Given the description of an element on the screen output the (x, y) to click on. 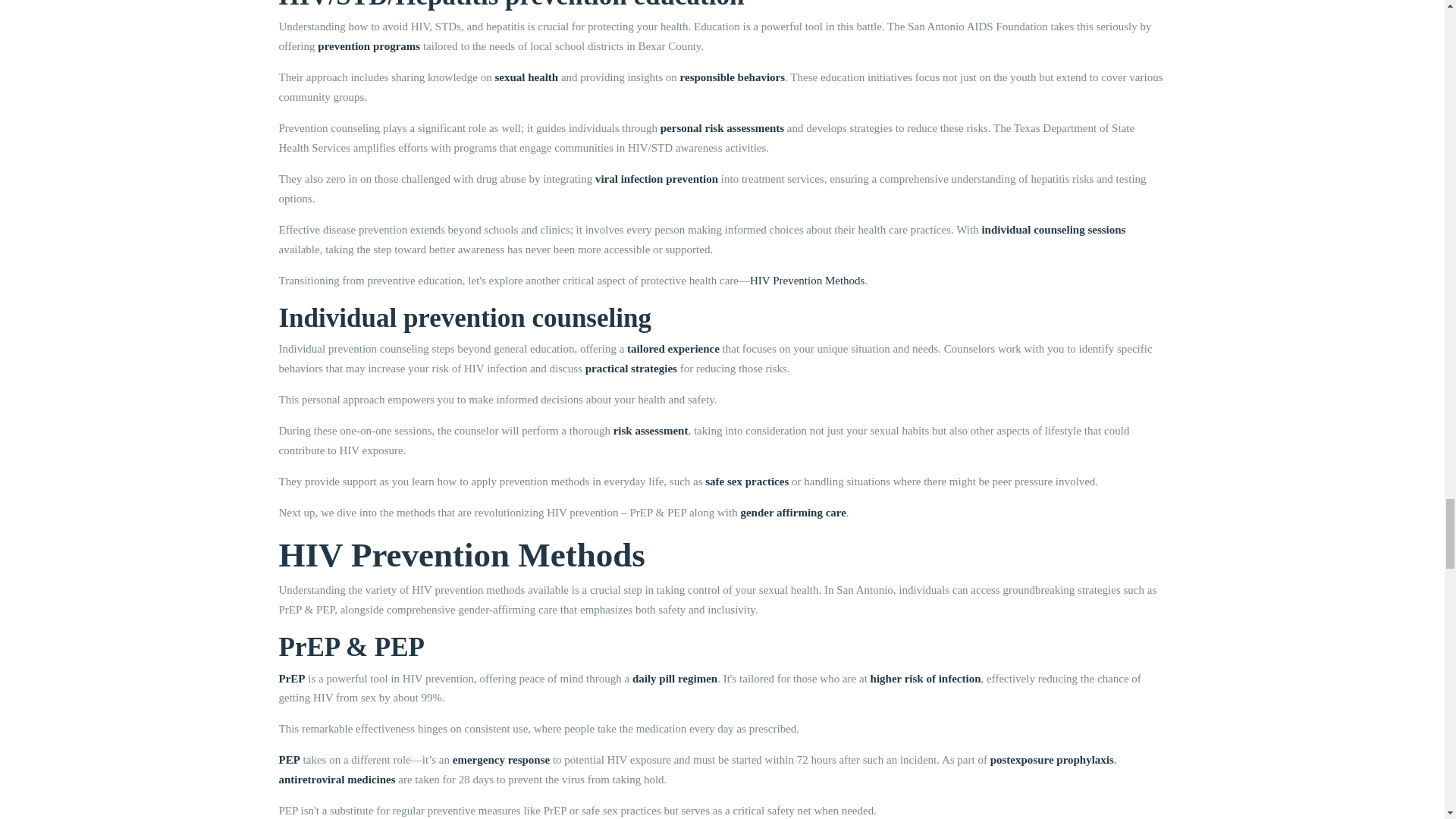
HIV Prevention Methods (806, 280)
